Given the description of an element on the screen output the (x, y) to click on. 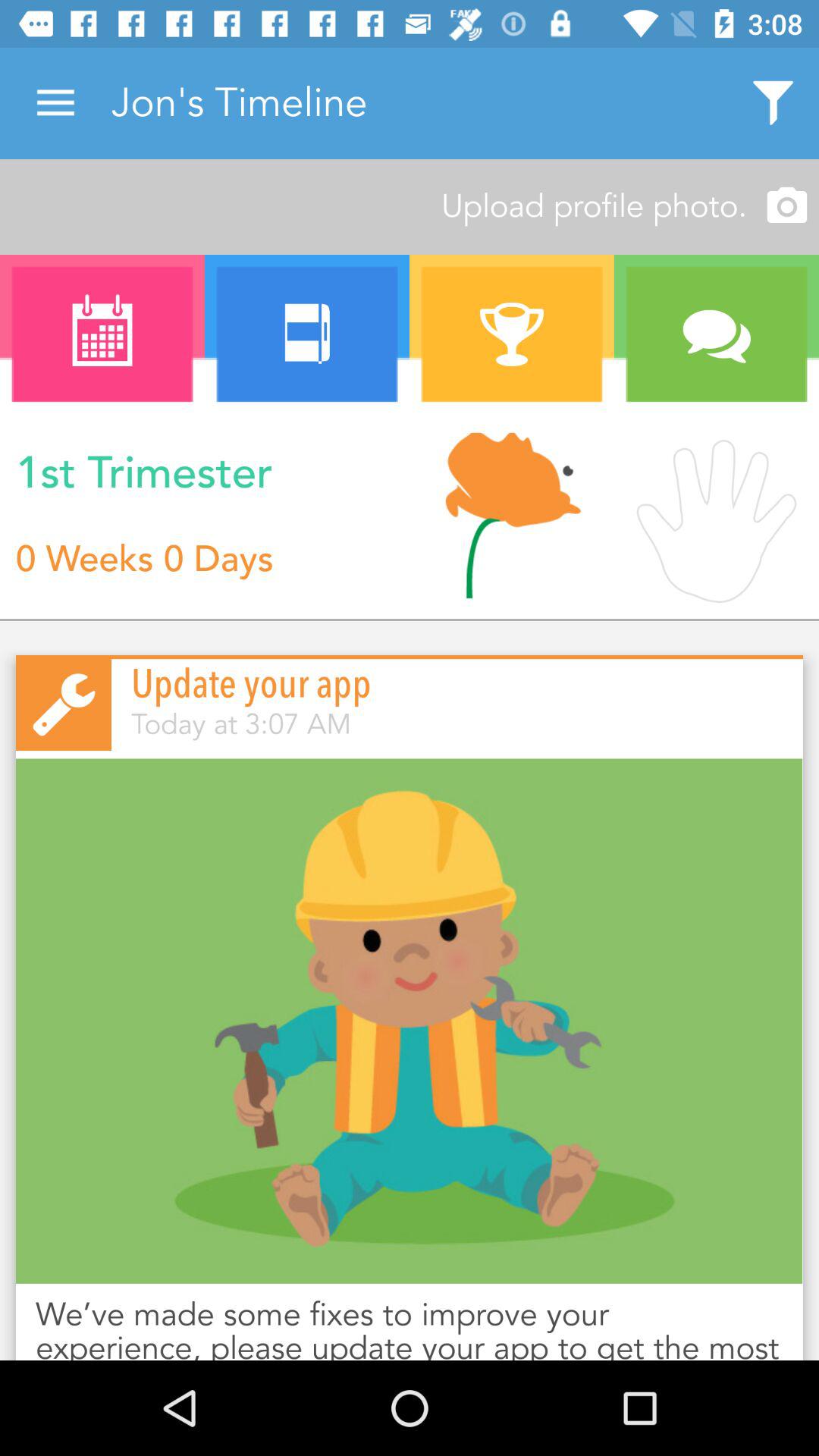
scroll until jon's timeline item (419, 103)
